Given the description of an element on the screen output the (x, y) to click on. 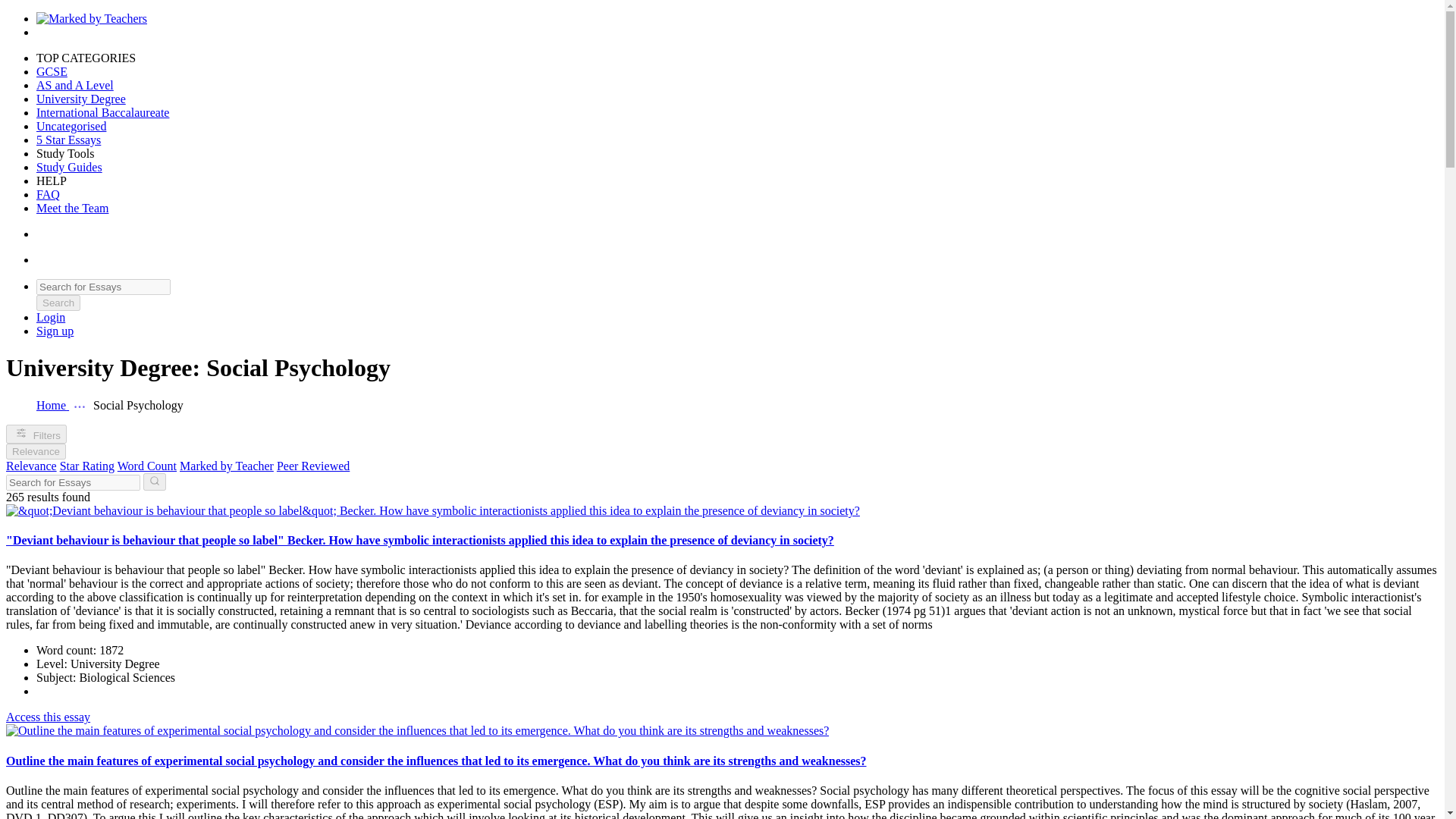
AS and A Level (74, 84)
Study Guides (68, 166)
University Degree (80, 98)
Marked by Teacher (226, 465)
International Baccalaureate (102, 112)
5 Star Essays (68, 139)
Access this essay (47, 716)
Meet the Team (71, 207)
FAQ (47, 194)
